Given the description of an element on the screen output the (x, y) to click on. 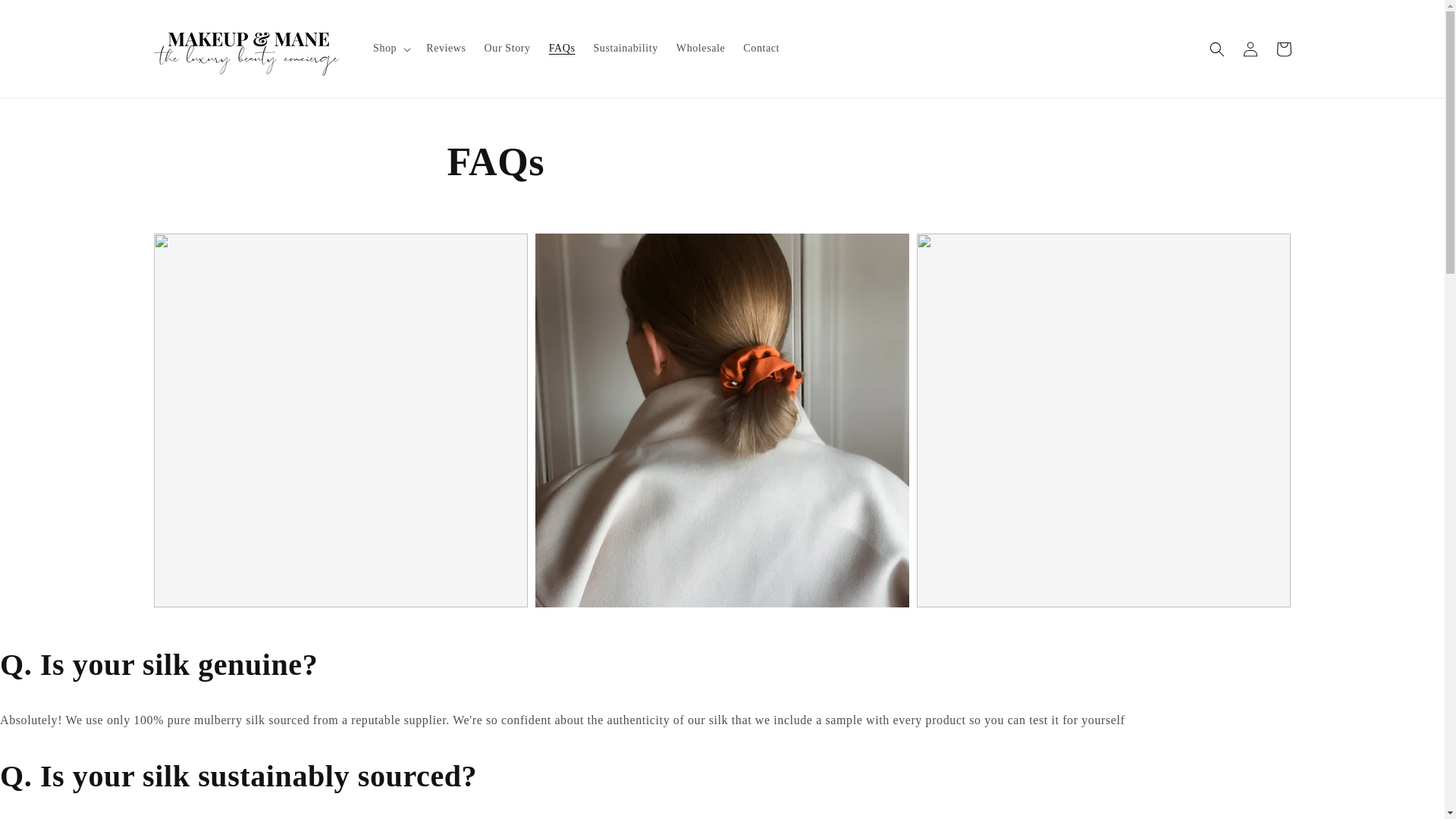
Koszyk (1283, 48)
Sustainability (624, 48)
Our Story (508, 48)
Contact (761, 48)
Reviews (445, 48)
FAQs (562, 48)
Wholesale (699, 48)
